Given the description of an element on the screen output the (x, y) to click on. 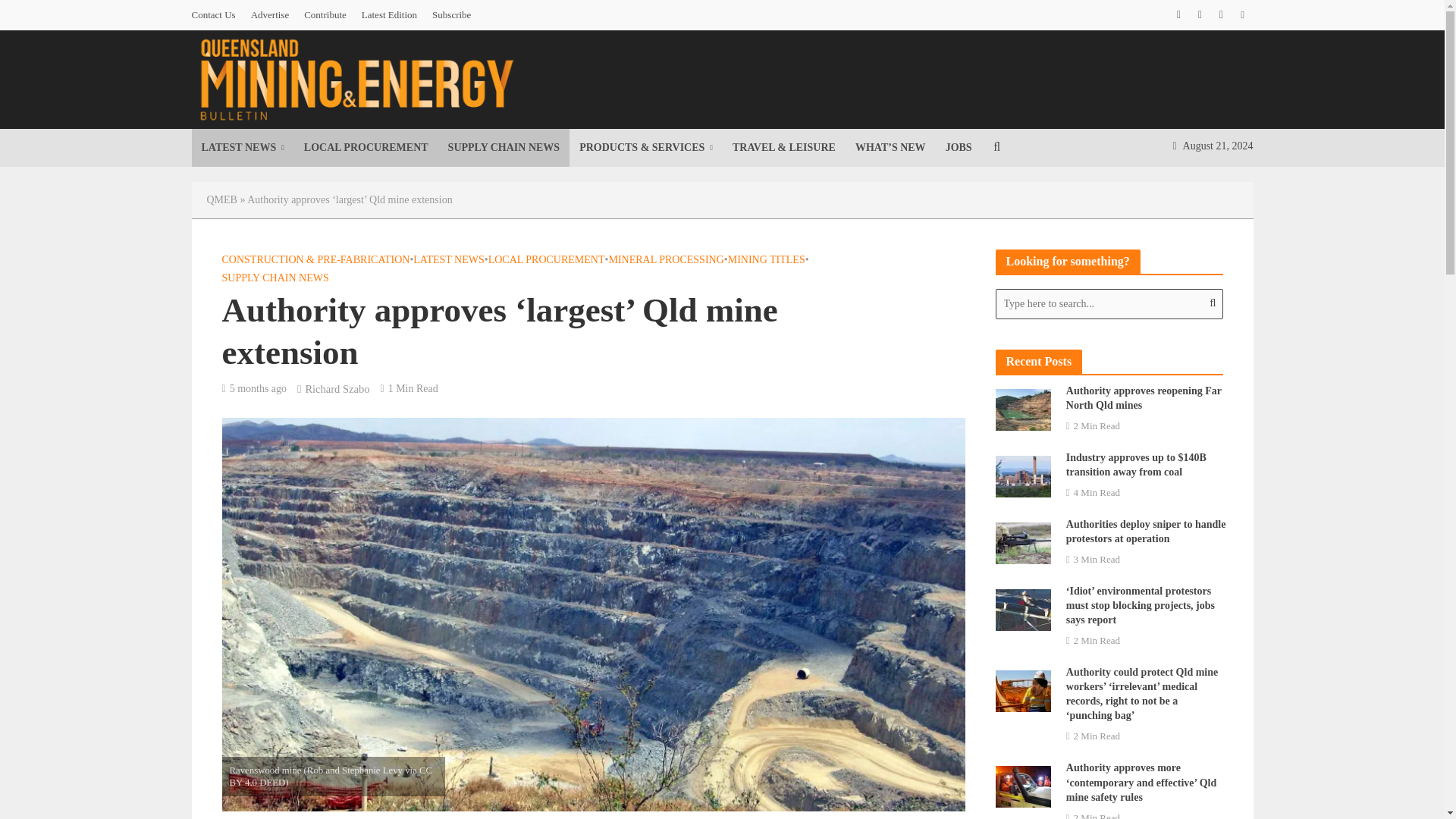
SUPPLY CHAIN NEWS (504, 147)
Contact Us (216, 15)
Contribute (325, 15)
LOCAL PROCUREMENT (366, 147)
Advertise (270, 15)
Subscribe (452, 15)
Latest Edition (389, 15)
LATEST NEWS (242, 147)
Authorities deploy sniper to handle protestors at operation (1021, 541)
Authority approves reopening Far North Qld mines (1021, 408)
